Given the description of an element on the screen output the (x, y) to click on. 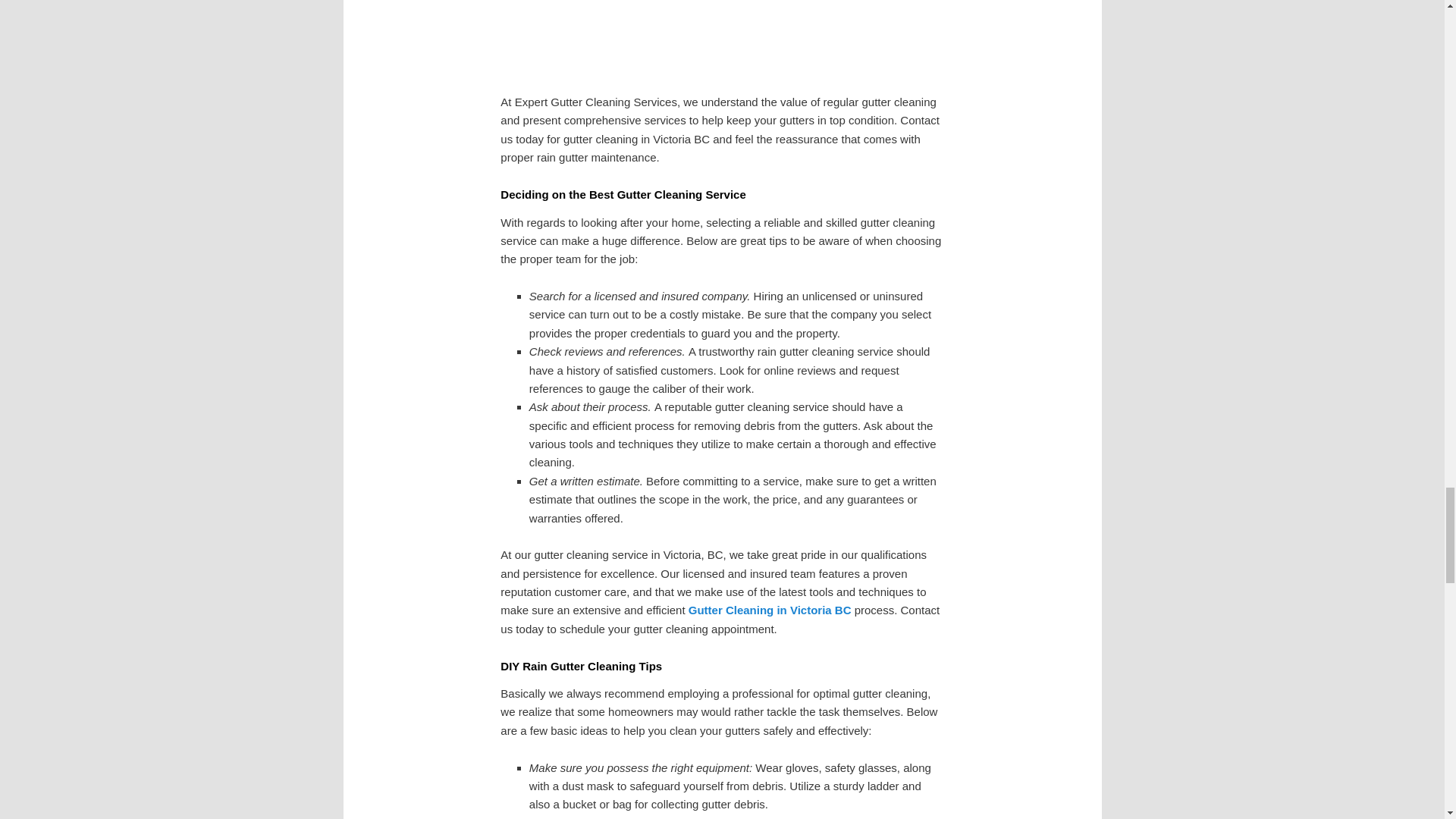
Gutter Cleaning in Victoria BC (769, 609)
